Given the description of an element on the screen output the (x, y) to click on. 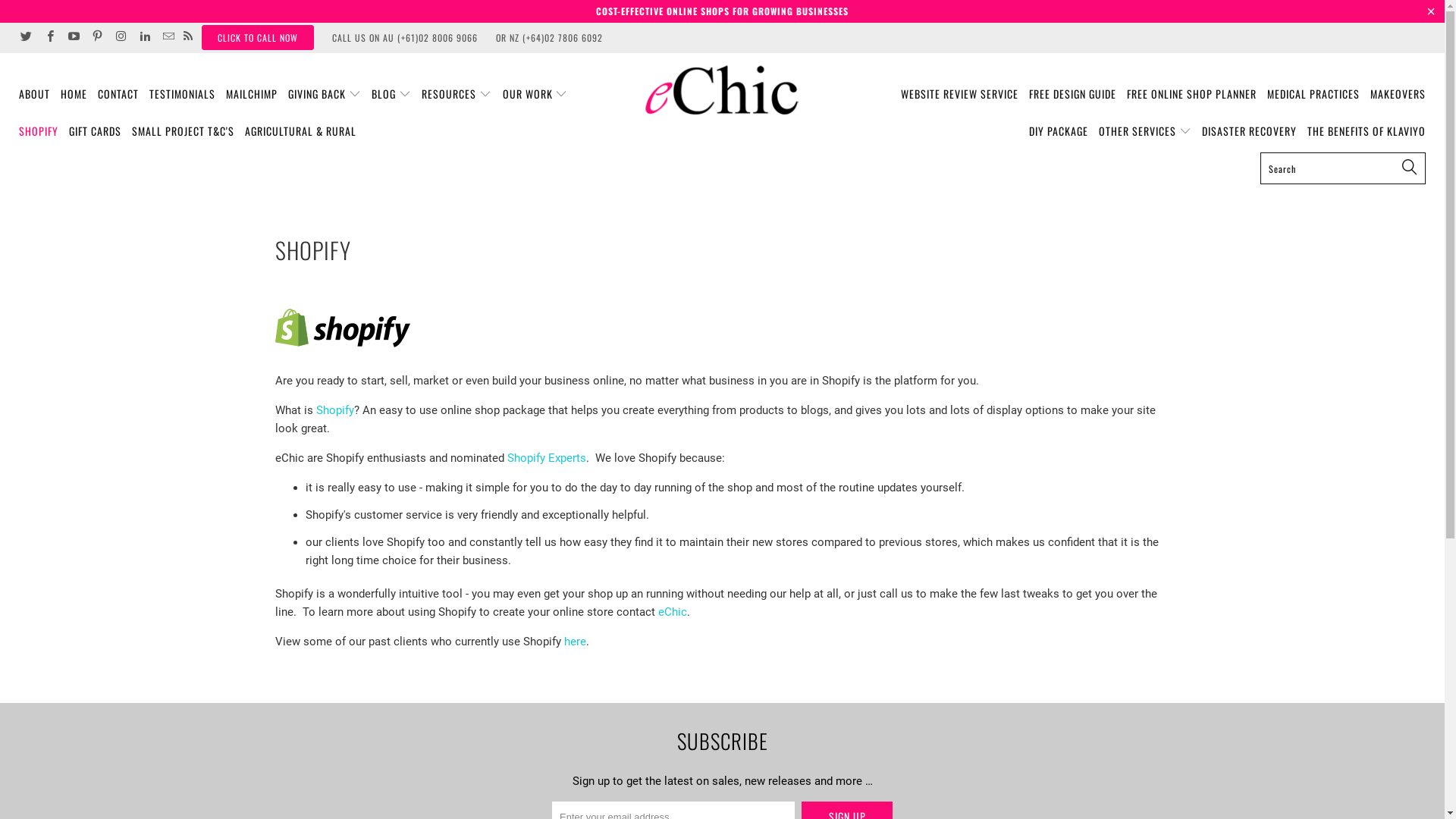
CLICK TO CALL NOW Element type: text (257, 37)
CONTACT Element type: text (117, 93)
DISASTER RECOVERY Element type: text (1248, 131)
RESOURCES Element type: text (456, 93)
MAKEOVERS Element type: text (1397, 93)
GIVING BACK Element type: text (324, 93)
AGRICULTURAL & RURAL Element type: text (300, 131)
eChic technology for small business  Element type: hover (721, 90)
OR NZ (+64)02 7806 6092 Element type: text (548, 37)
TESTIMONIALS Element type: text (182, 93)
Shopify Experts Element type: text (545, 457)
CALL US ON AU (+61)02 8006 9066 Element type: text (404, 37)
Email eChic technology for small business  Element type: hover (166, 37)
HOME Element type: text (73, 93)
here Element type: text (575, 641)
ABOUT Element type: text (34, 93)
MAILCHIMP Element type: text (251, 93)
FREE DESIGN GUIDE Element type: text (1072, 93)
MEDICAL PRACTICES Element type: text (1313, 93)
SMALL PROJECT T&C'S Element type: text (182, 131)
GIFT CARDS Element type: text (95, 131)
eChic technology for small business  on LinkedIn Element type: hover (143, 37)
WEBSITE REVIEW SERVICE Element type: text (959, 93)
DIY PACKAGE Element type: text (1058, 131)
eChic technology for small business  on YouTube Element type: hover (72, 37)
SHOPIFY Element type: text (38, 131)
BLOG Element type: text (391, 93)
OUR WORK Element type: text (534, 93)
eChic Element type: text (672, 611)
Shopify Element type: text (334, 410)
eChic technology for small business  on Instagram Element type: hover (119, 37)
THE BENEFITS OF KLAVIYO Element type: text (1366, 131)
OTHER SERVICES Element type: text (1144, 131)
eChic technology for small business  on Twitter Element type: hover (24, 37)
eChic technology for small business  on Pinterest Element type: hover (96, 37)
eChic technology for small business  on Facebook Element type: hover (48, 37)
eChic technology for small business  on RSS Element type: hover (187, 37)
FREE ONLINE SHOP PLANNER Element type: text (1191, 93)
